Given the description of an element on the screen output the (x, y) to click on. 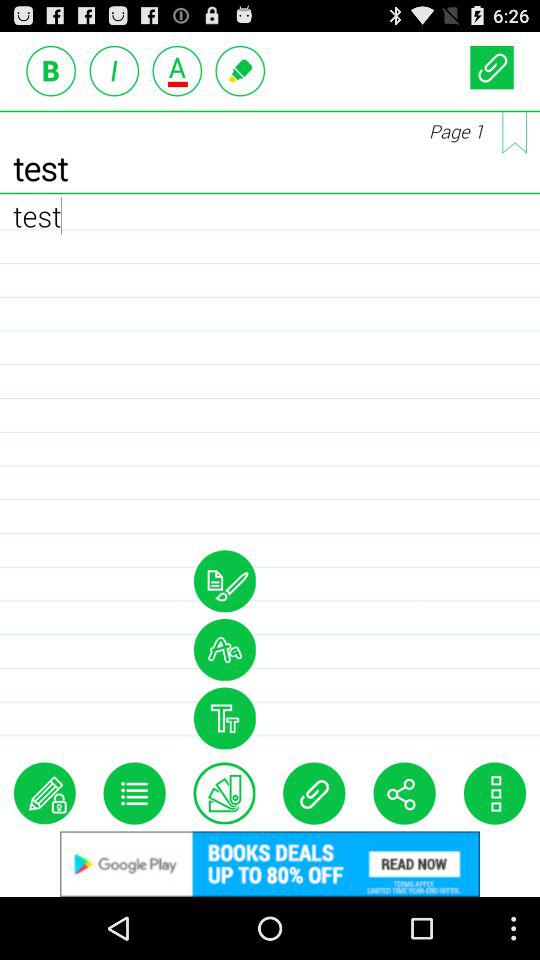
set the size of font (224, 718)
